Given the description of an element on the screen output the (x, y) to click on. 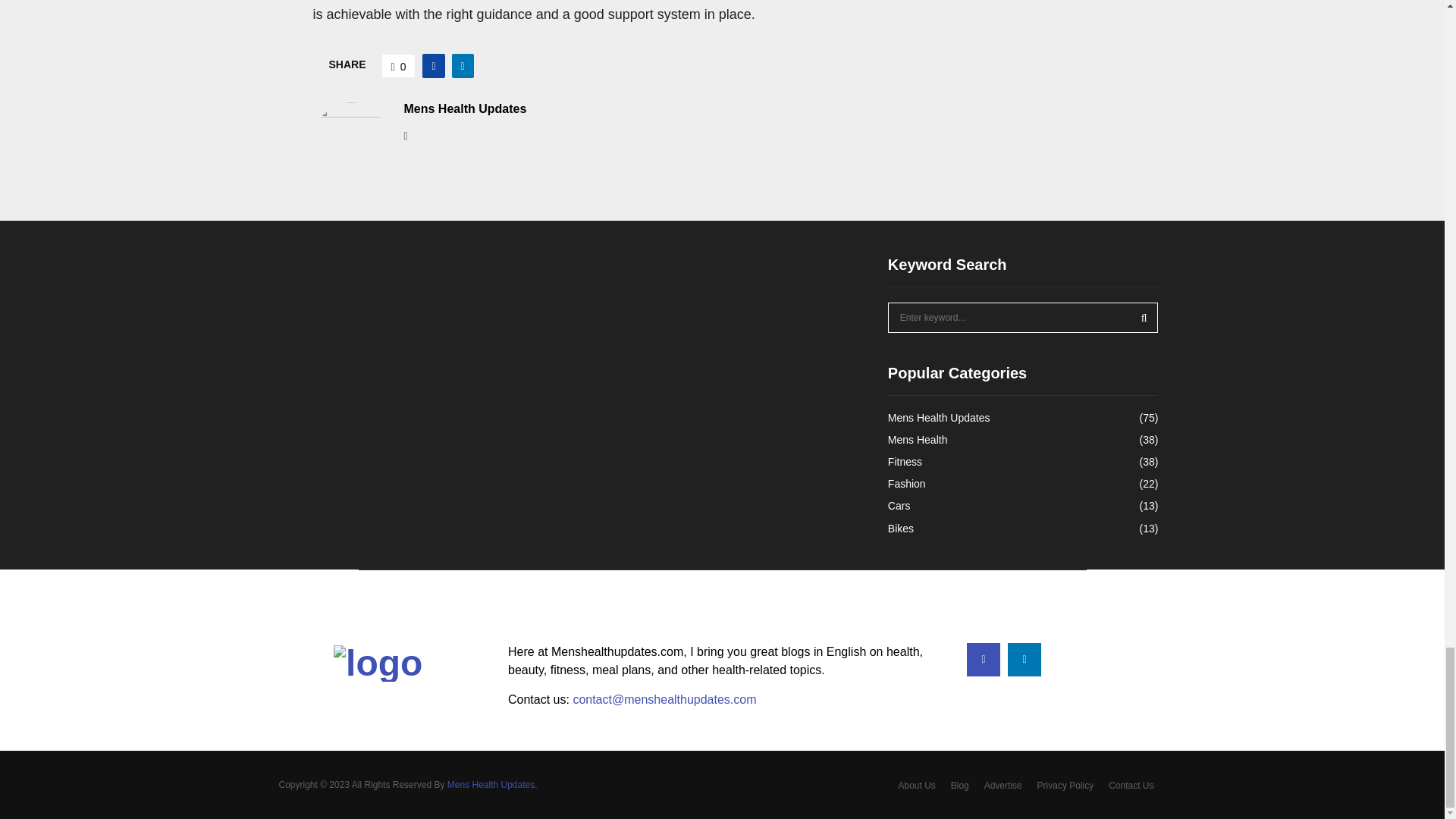
Facebook (983, 659)
Like (398, 65)
Posts by Mens Health Updates (464, 109)
